Given the description of an element on the screen output the (x, y) to click on. 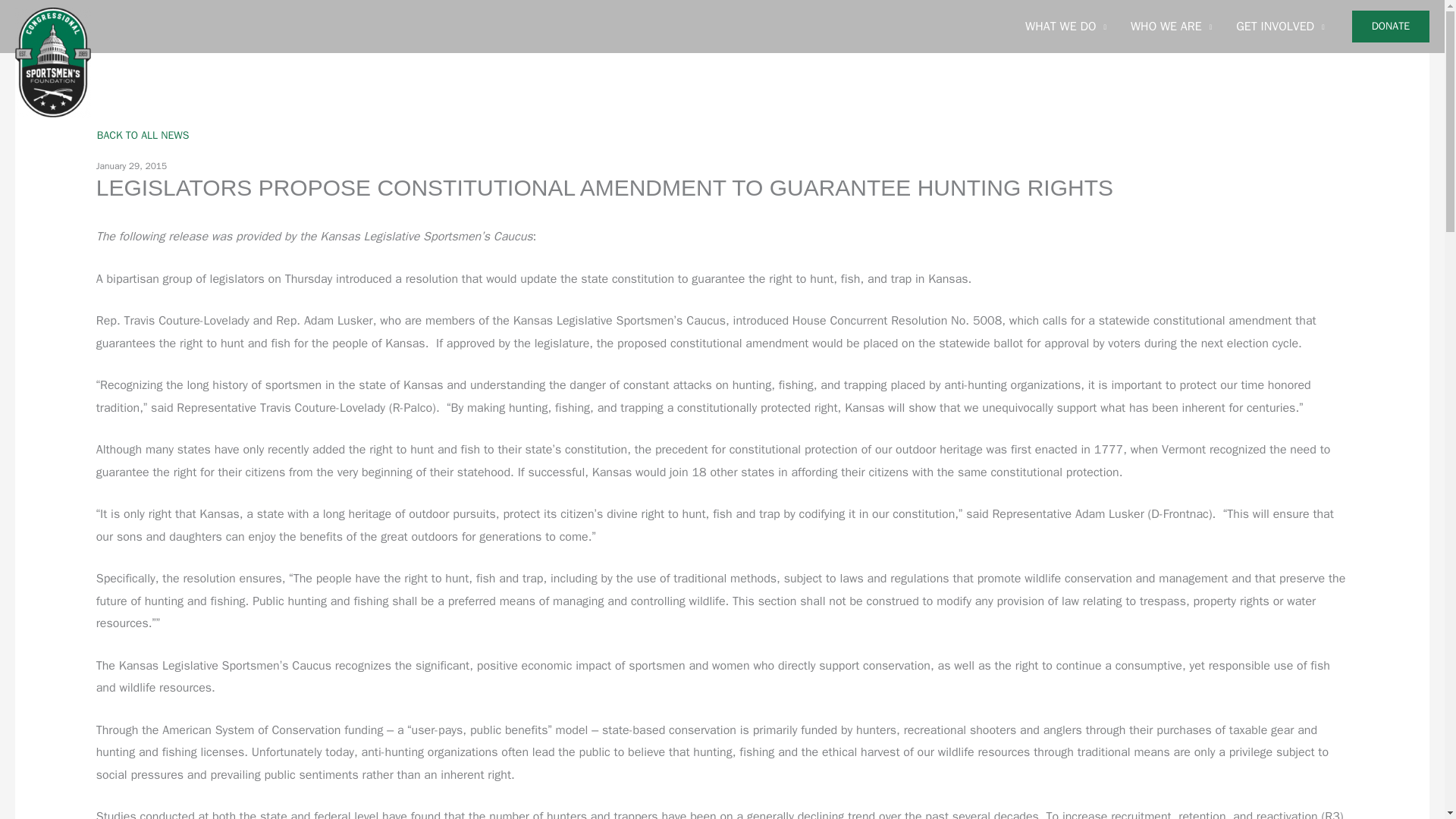
WHAT WE DO (1065, 26)
GET INVOLVED (1280, 26)
BACK TO ALL NEWS (143, 134)
DONATE (1390, 26)
WHO WE ARE (1171, 26)
